Given the description of an element on the screen output the (x, y) to click on. 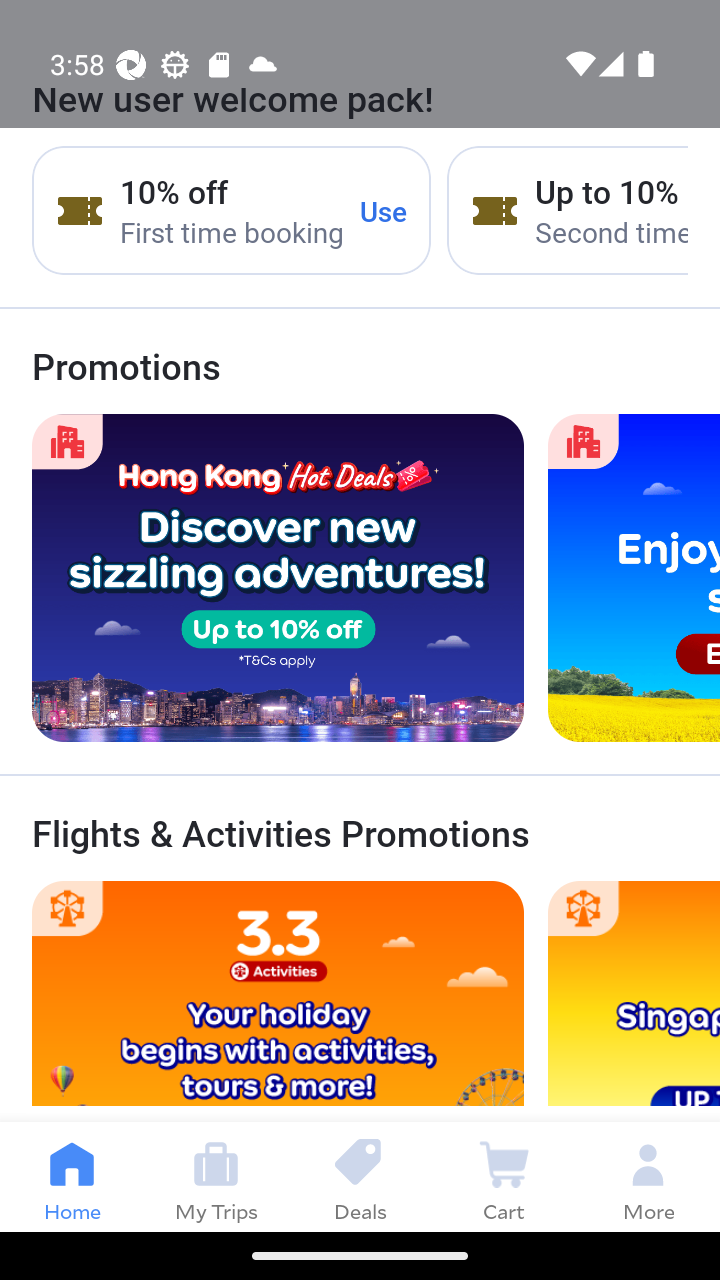
Use (384, 210)
Home (72, 1176)
My Trips (216, 1176)
Deals (360, 1176)
Cart (504, 1176)
More (648, 1176)
